Given the description of an element on the screen output the (x, y) to click on. 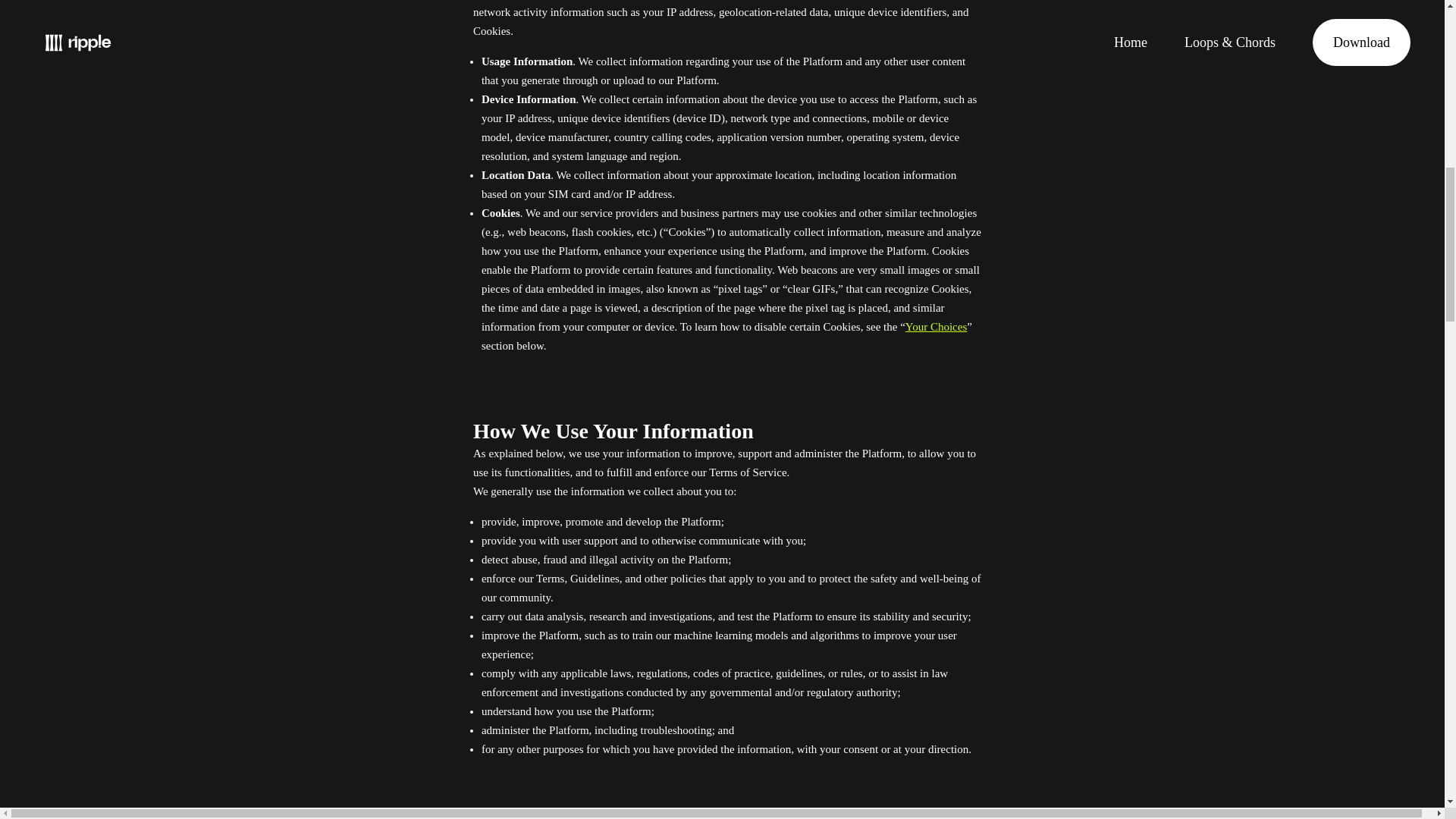
Your Choices (935, 326)
